Given the description of an element on the screen output the (x, y) to click on. 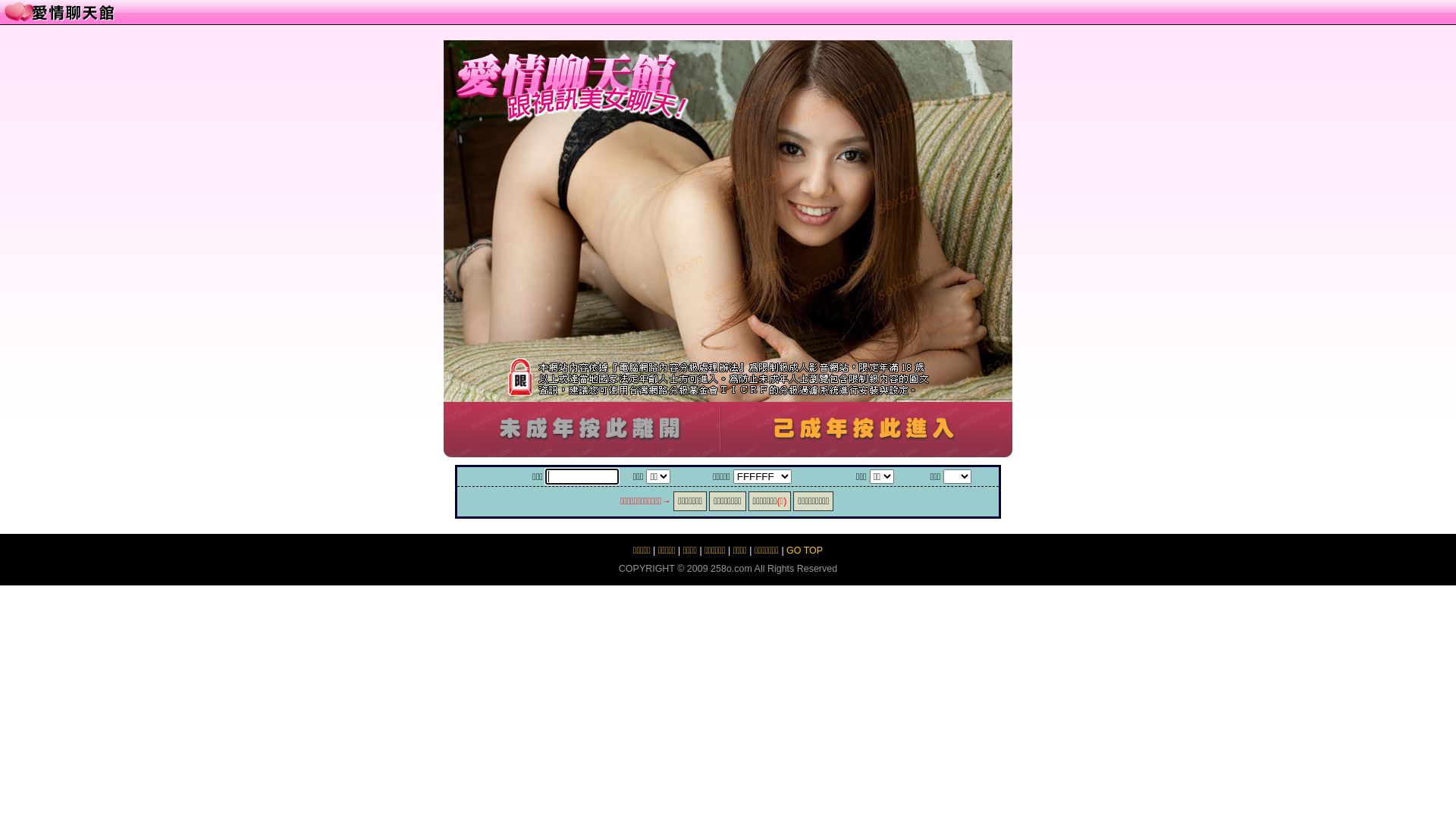
258o.com Element type: text (731, 568)
GO TOP Element type: text (804, 550)
